Given the description of an element on the screen output the (x, y) to click on. 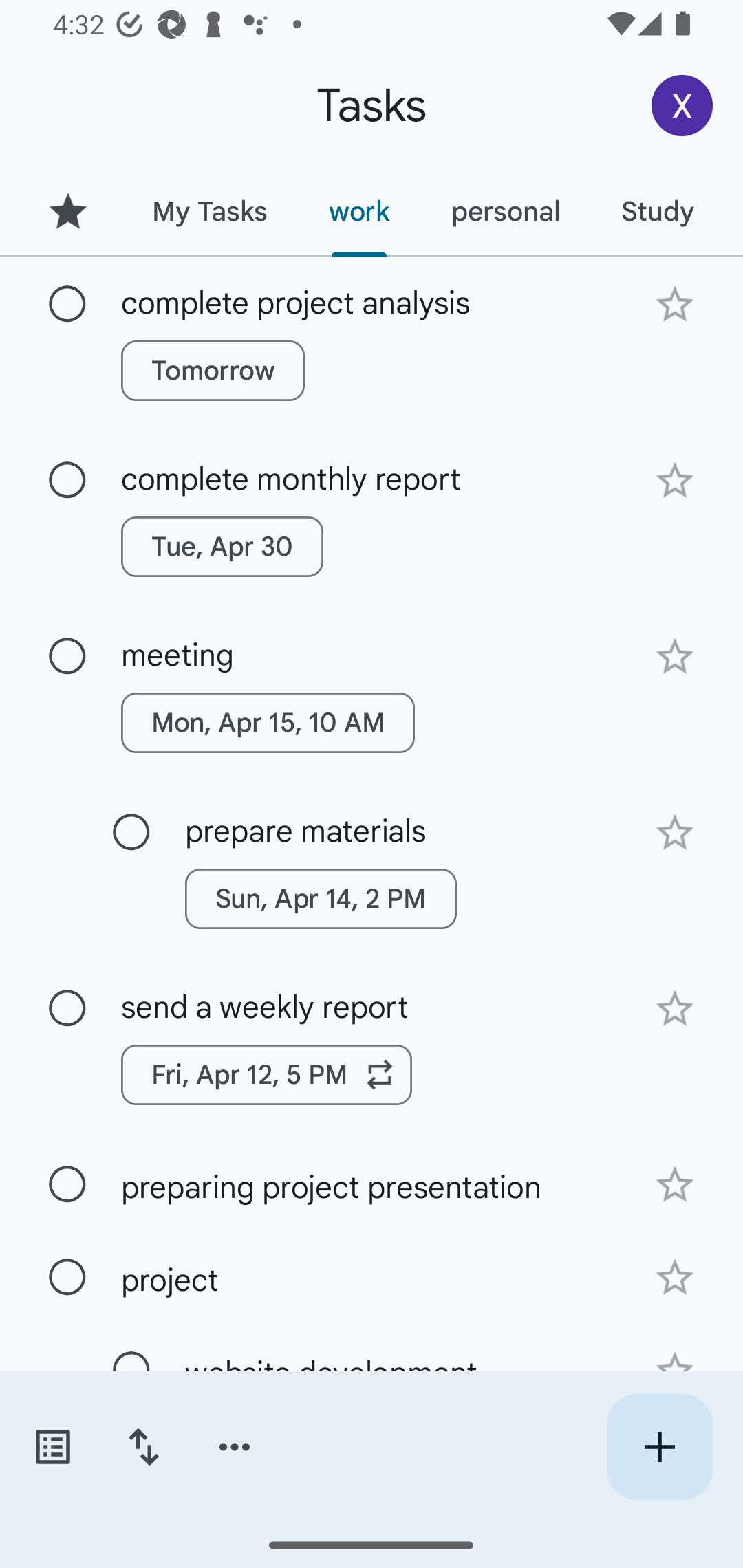
Starred (67, 211)
My Tasks (209, 211)
personal (504, 211)
Study (656, 211)
Add star (674, 303)
Mark as complete (67, 304)
Tomorrow (212, 369)
Add star (674, 480)
Mark as complete (67, 480)
Tue, Apr 30 (222, 546)
Add star (674, 656)
Mark as complete (67, 655)
Mon, Apr 15, 10 AM (267, 722)
Add star (674, 832)
Mark as complete (131, 833)
Sun, Apr 14, 2 PM (320, 897)
Add star (674, 1007)
Mark as complete (67, 1008)
Fri, Apr 12, 5 PM (266, 1074)
Add star (674, 1184)
Mark as complete (67, 1184)
Add star (674, 1277)
Mark as complete (67, 1276)
Switch task lists (52, 1447)
Create new task (659, 1446)
Change sort order (143, 1446)
More options (234, 1446)
